Given the description of an element on the screen output the (x, y) to click on. 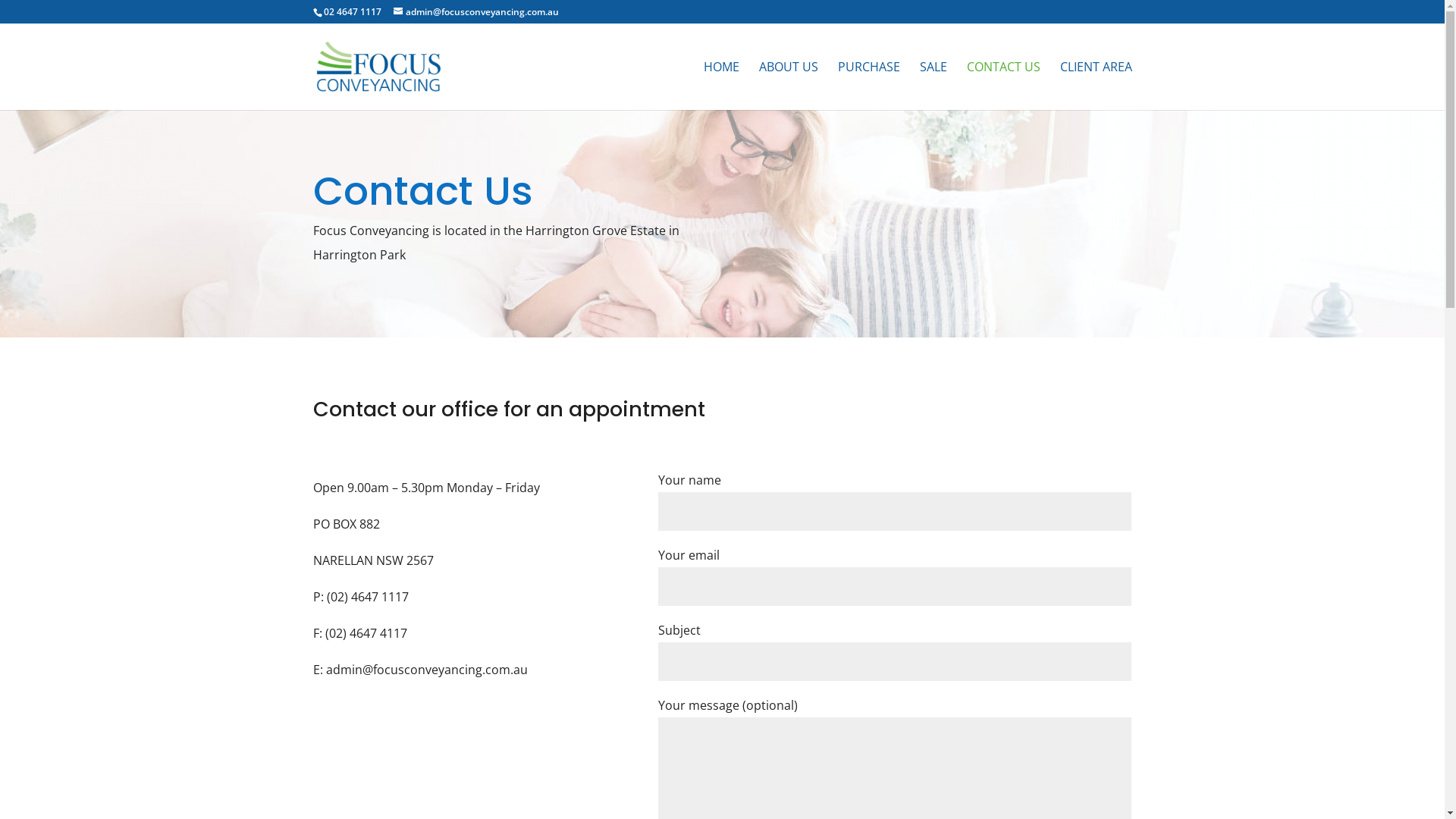
CLIENT AREA Element type: text (1096, 85)
ABOUT US Element type: text (787, 85)
PURCHASE Element type: text (868, 85)
admin@focusconveyancing.com.au Element type: text (475, 11)
SALE Element type: text (932, 85)
CONTACT US Element type: text (1002, 85)
02 4647 1117 Element type: text (351, 11)
HOME Element type: text (721, 85)
